Given the description of an element on the screen output the (x, y) to click on. 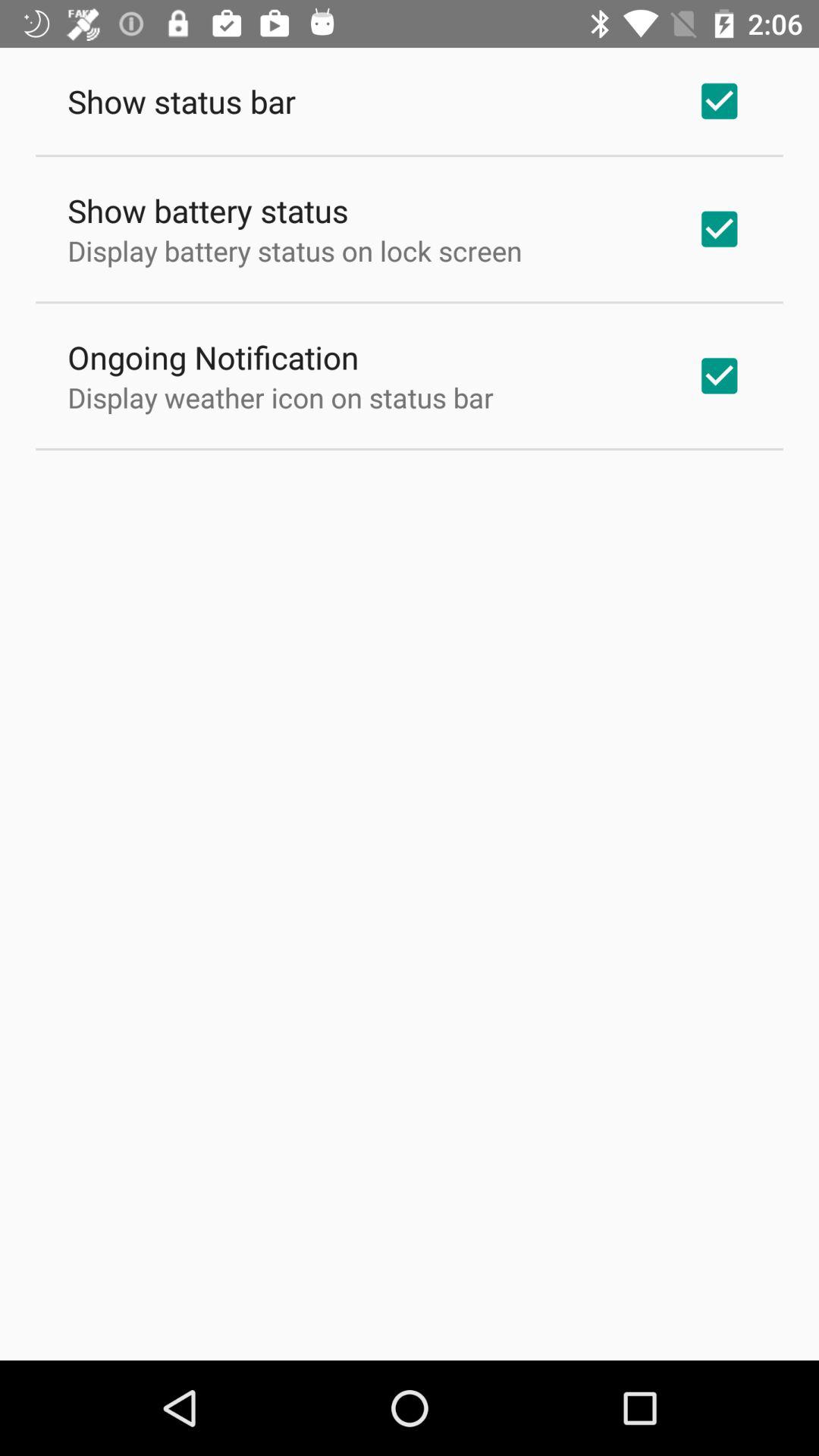
turn off the icon below the display battery status app (212, 356)
